Given the description of an element on the screen output the (x, y) to click on. 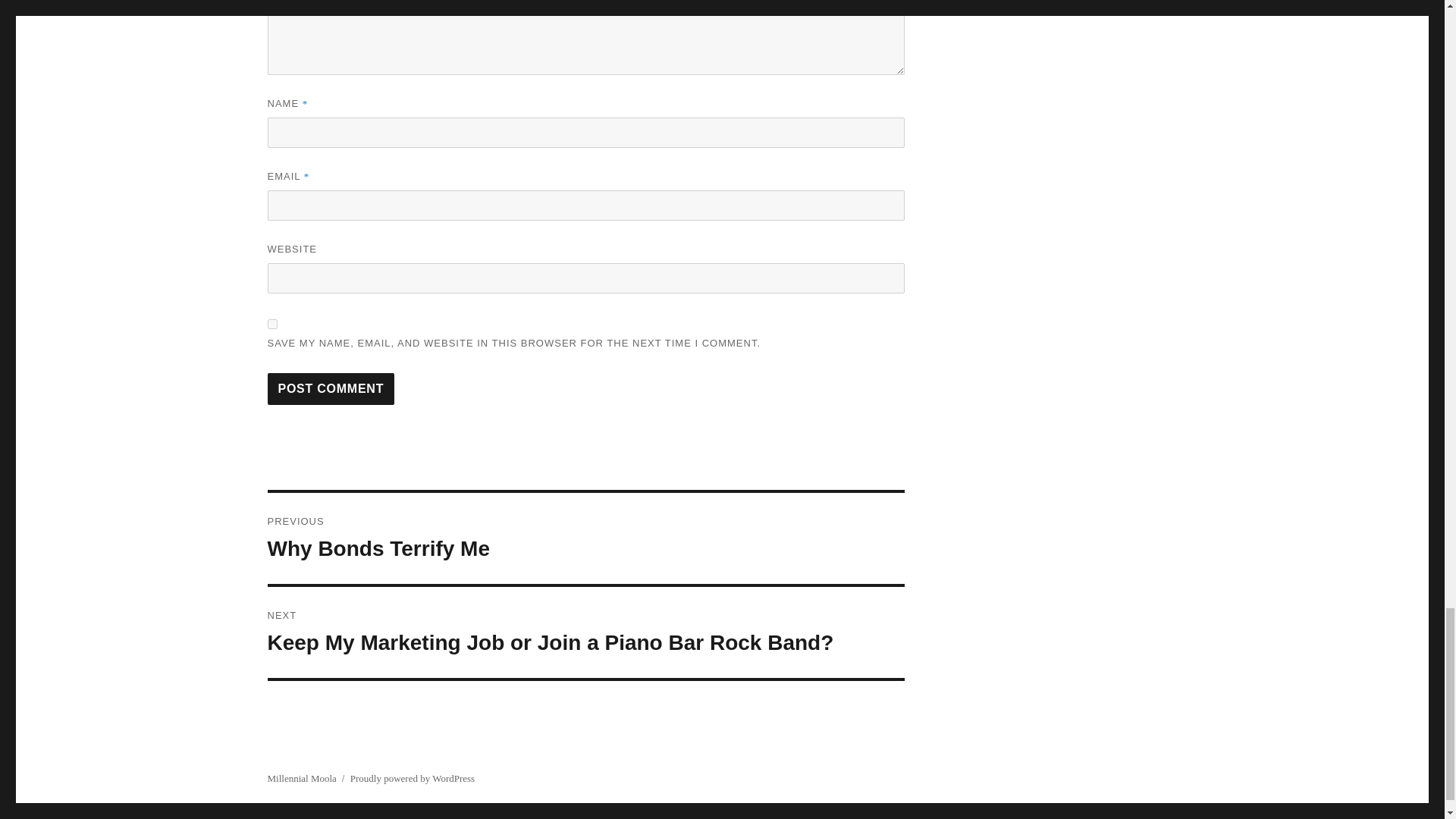
Post Comment (330, 388)
Post Comment (330, 388)
yes (585, 538)
